Given the description of an element on the screen output the (x, y) to click on. 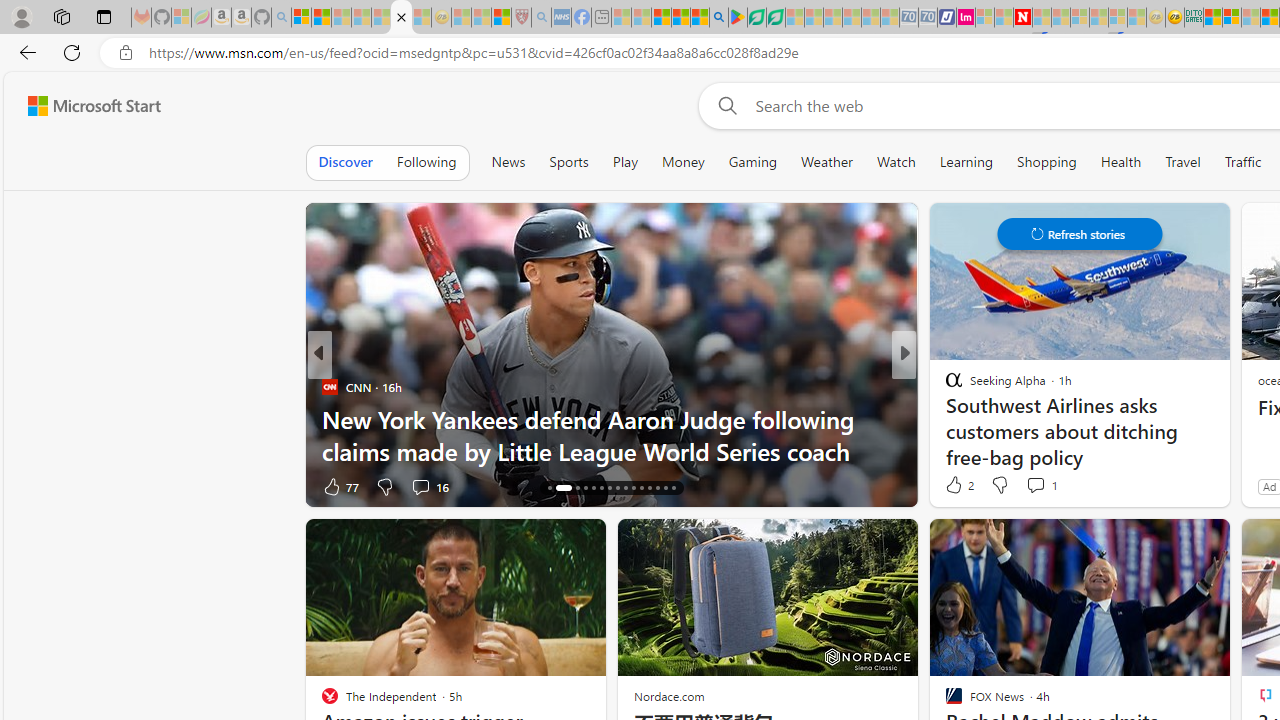
SB Nation (944, 386)
Jobs - lastminute.com Investor Portal (966, 17)
View comments 20 Comment (1051, 486)
AutomationID: tab-30 (673, 487)
AutomationID: tab-28 (656, 487)
View comments 25 Comment (1036, 485)
20 Like (956, 486)
